Given the description of an element on the screen output the (x, y) to click on. 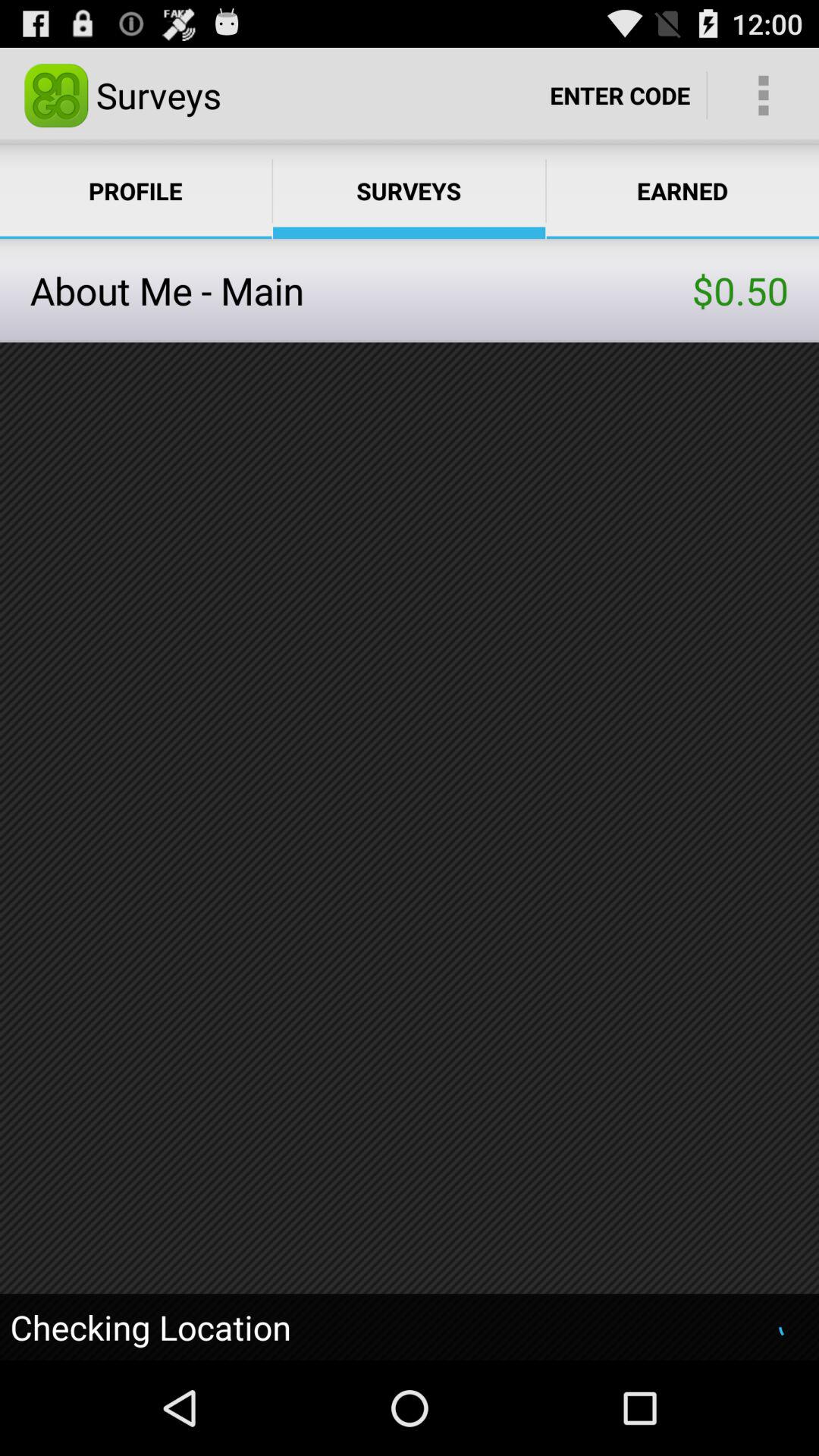
click app to the right of surveys (620, 95)
